Given the description of an element on the screen output the (x, y) to click on. 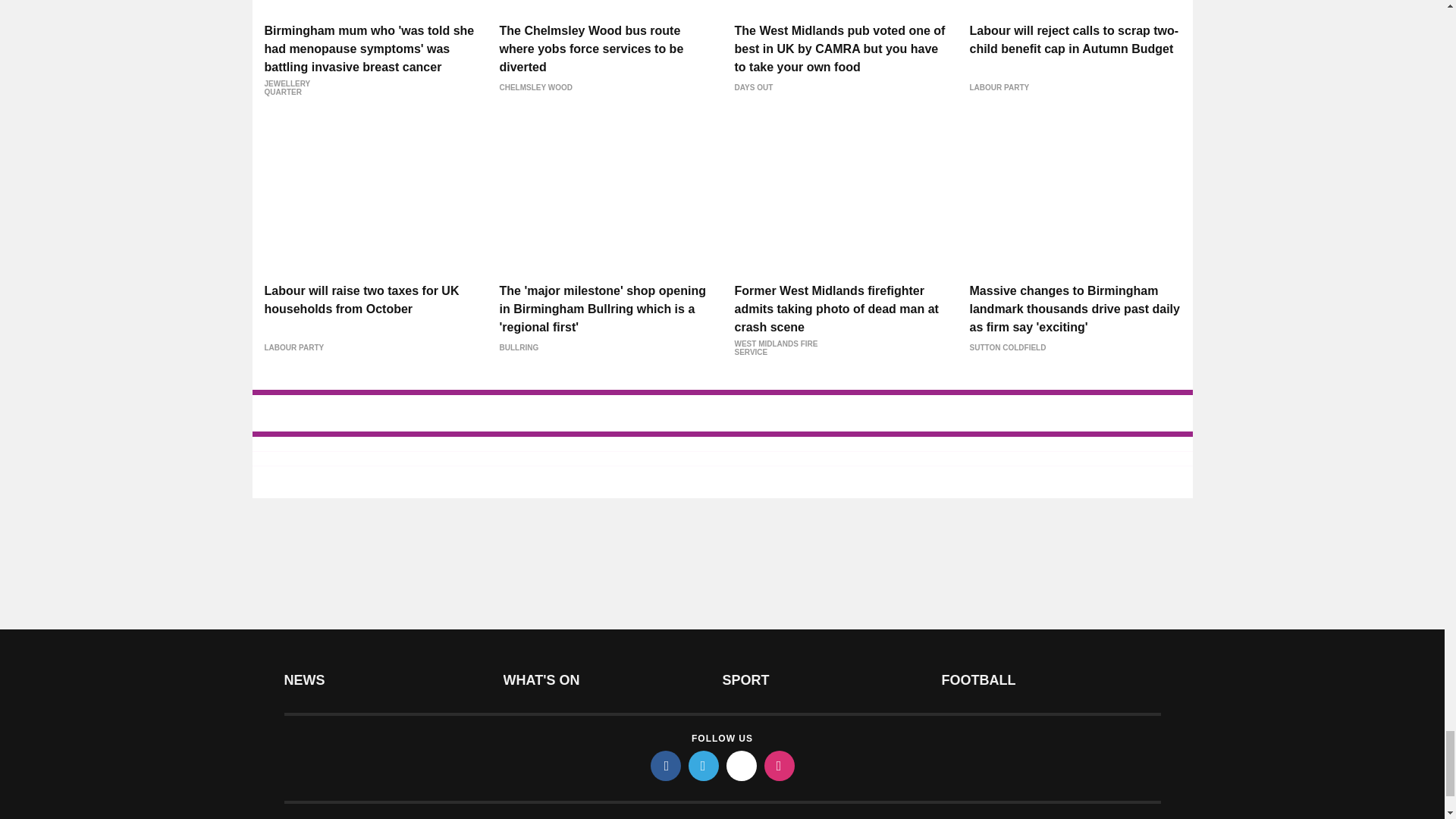
twitter (703, 766)
tiktok (741, 766)
facebook (665, 766)
instagram (779, 766)
